Given the description of an element on the screen output the (x, y) to click on. 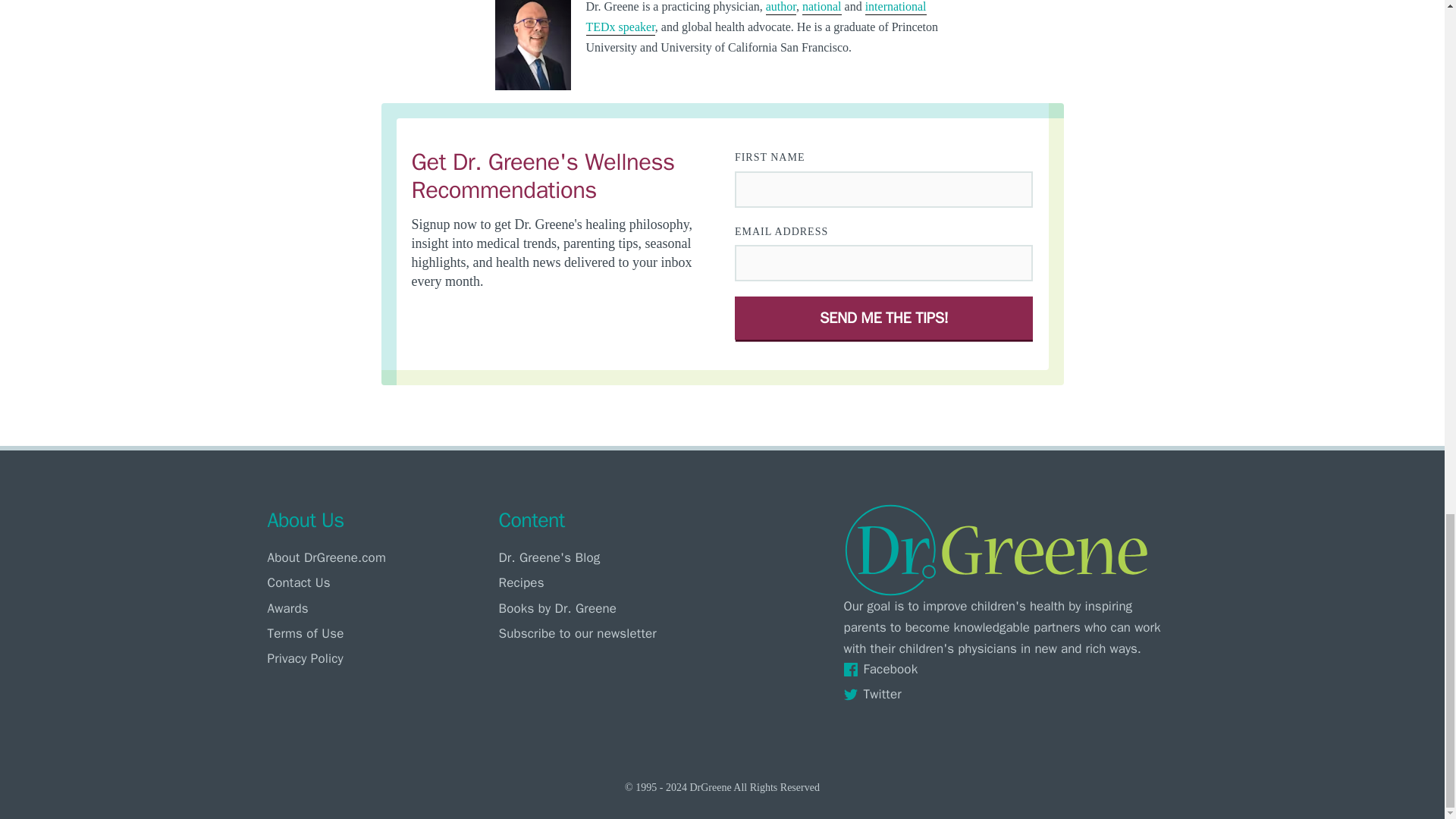
international TEDx speaker (755, 18)
Facebook (1009, 669)
About DrGreene.com (378, 557)
SEND ME THE TIPS! (884, 317)
Contact Us (378, 582)
Books by Dr. Greene (610, 608)
Privacy Policy (378, 658)
Recipes (610, 582)
national (821, 7)
Terms of Use (378, 633)
Twitter (1009, 693)
Dr. Greene's Blog (610, 557)
Subscribe to our newsletter (610, 633)
author (780, 7)
